Given the description of an element on the screen output the (x, y) to click on. 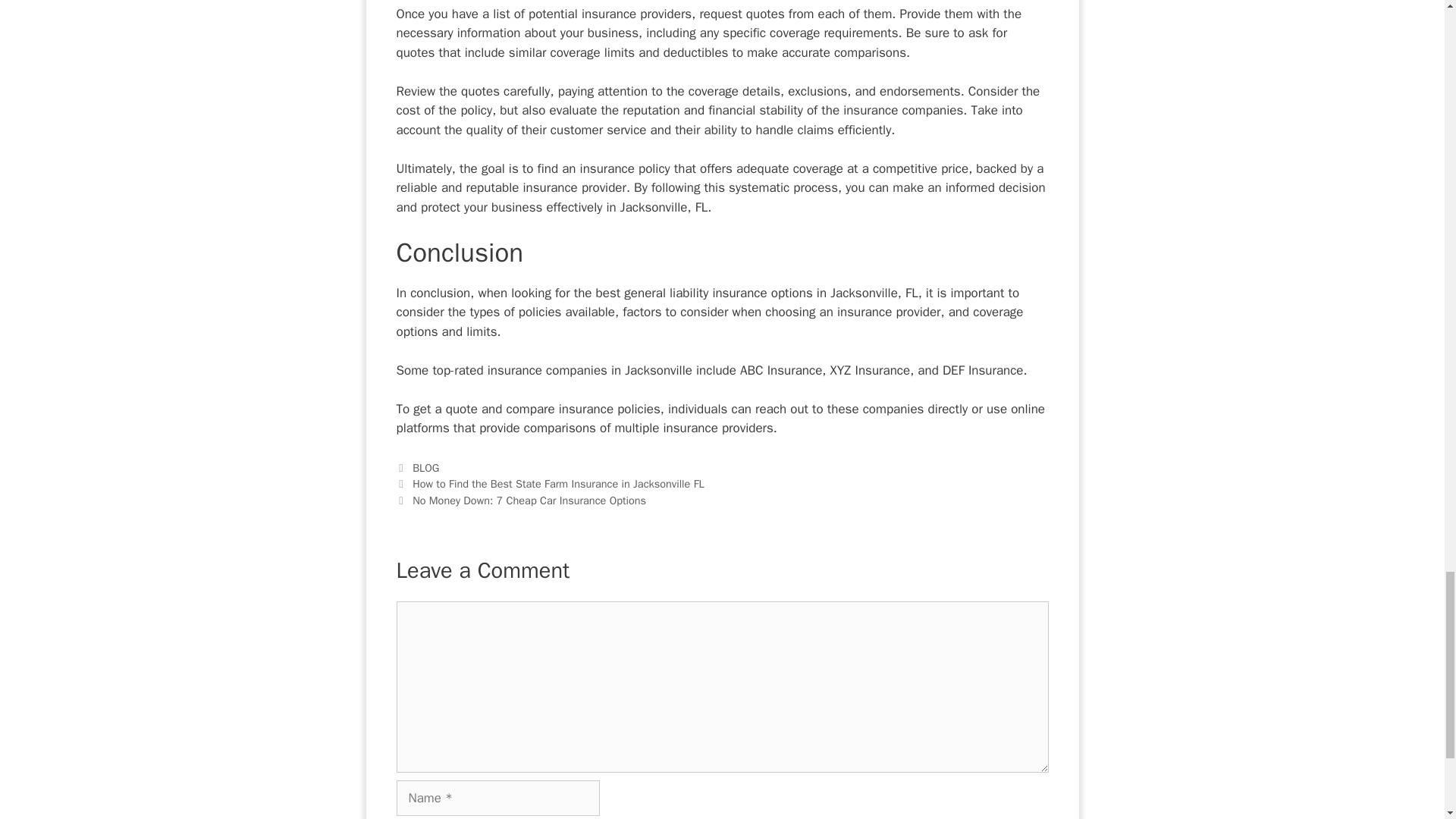
No Money Down: 7 Cheap Car Insurance Options (529, 499)
How to Find the Best State Farm Insurance in Jacksonville FL (558, 483)
BLOG (425, 468)
